Given the description of an element on the screen output the (x, y) to click on. 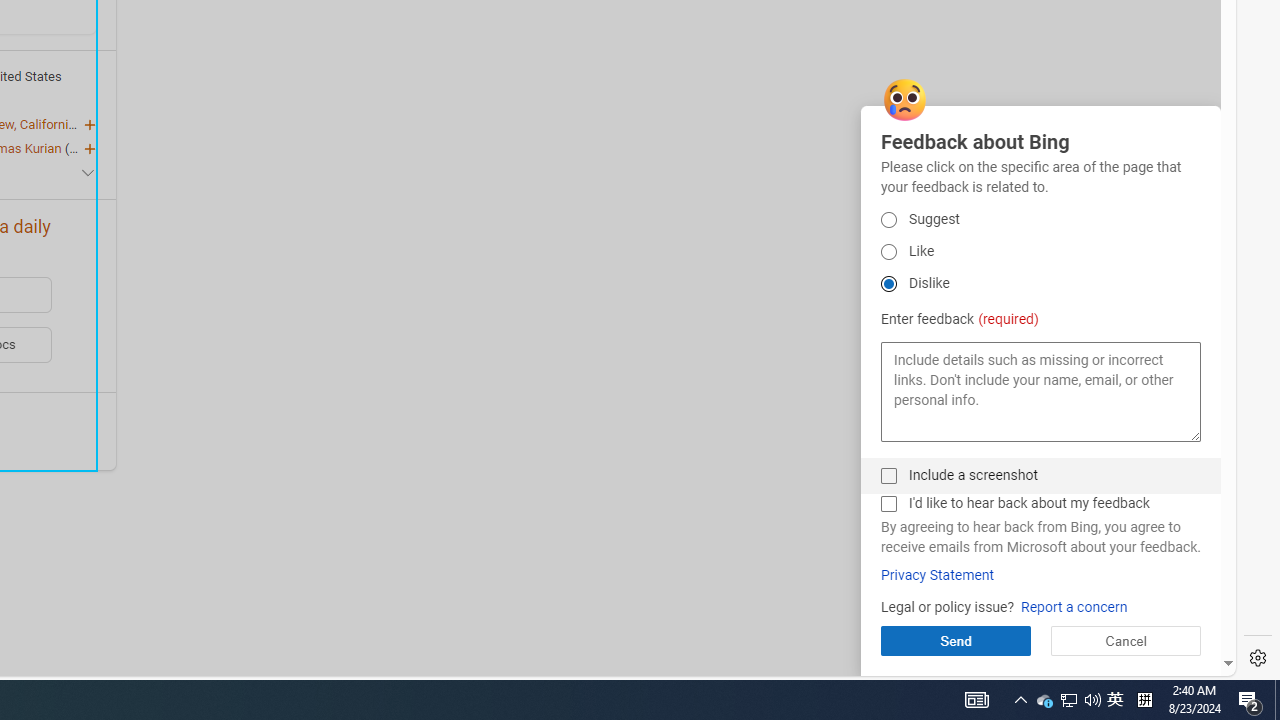
Include a screenshot (1115, 699)
I'd like to hear back about my feedback (1044, 699)
Suggest (888, 475)
Send (888, 503)
Privacy Statement (888, 219)
